Given the description of an element on the screen output the (x, y) to click on. 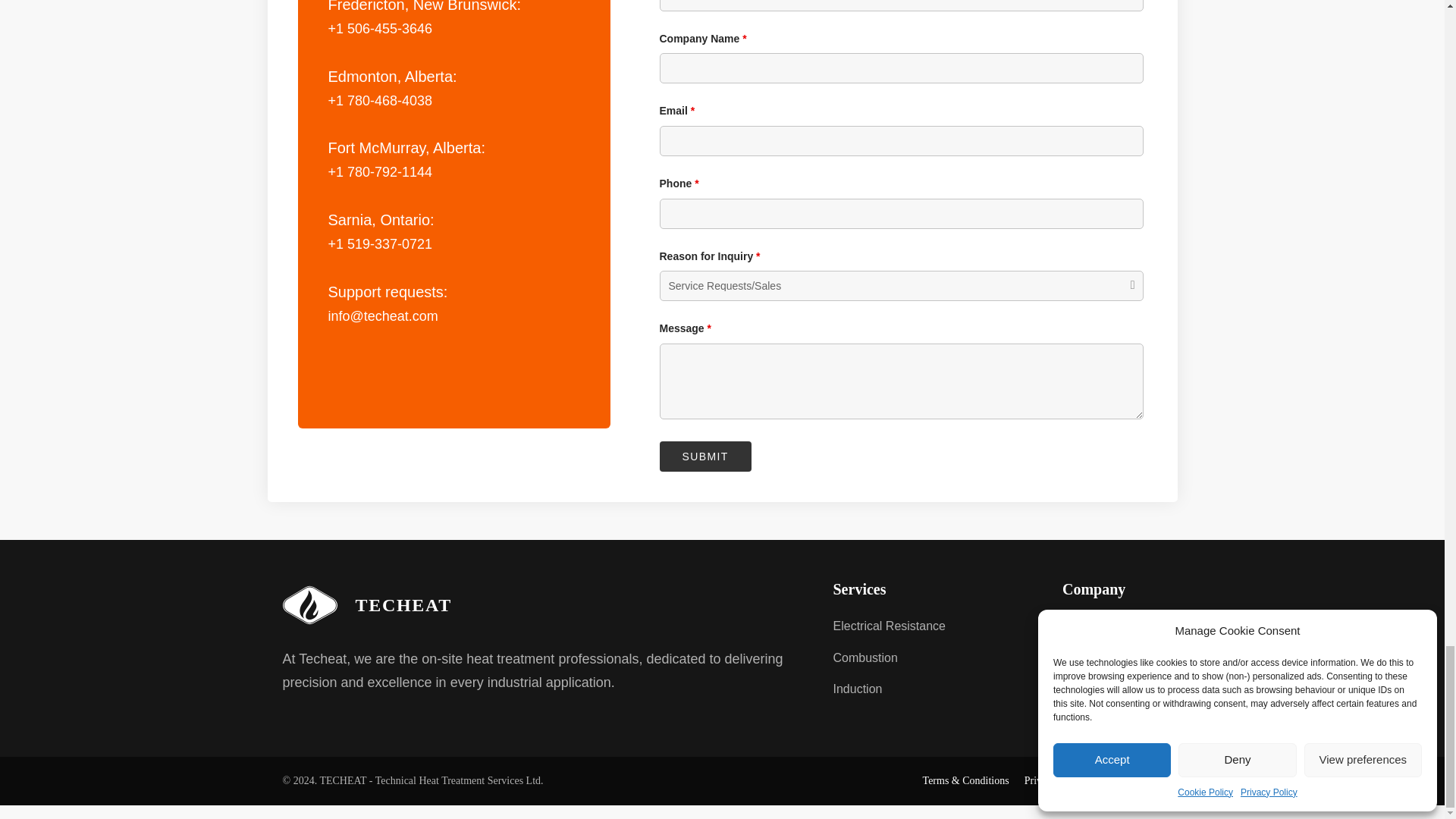
Submit (705, 456)
